Given the description of an element on the screen output the (x, y) to click on. 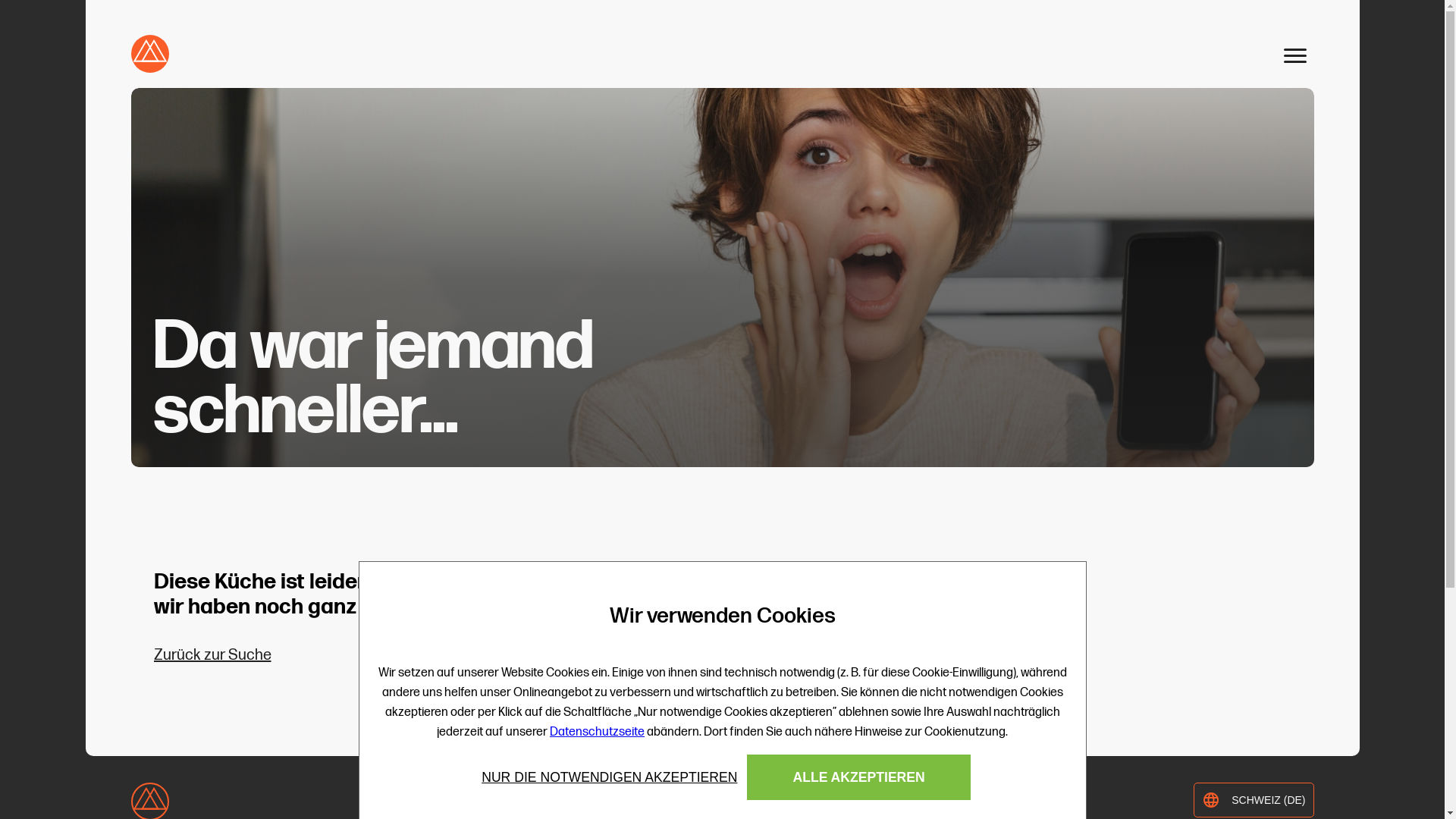
Datenschutzseite Element type: text (596, 731)
ALLE AKZEPTIEREN Element type: text (857, 777)
language
SCHWEIZ (DE) Element type: text (1253, 799)
NUR DIE NOTWENDIGEN AKZEPTIEREN Element type: text (608, 777)
